Given the description of an element on the screen output the (x, y) to click on. 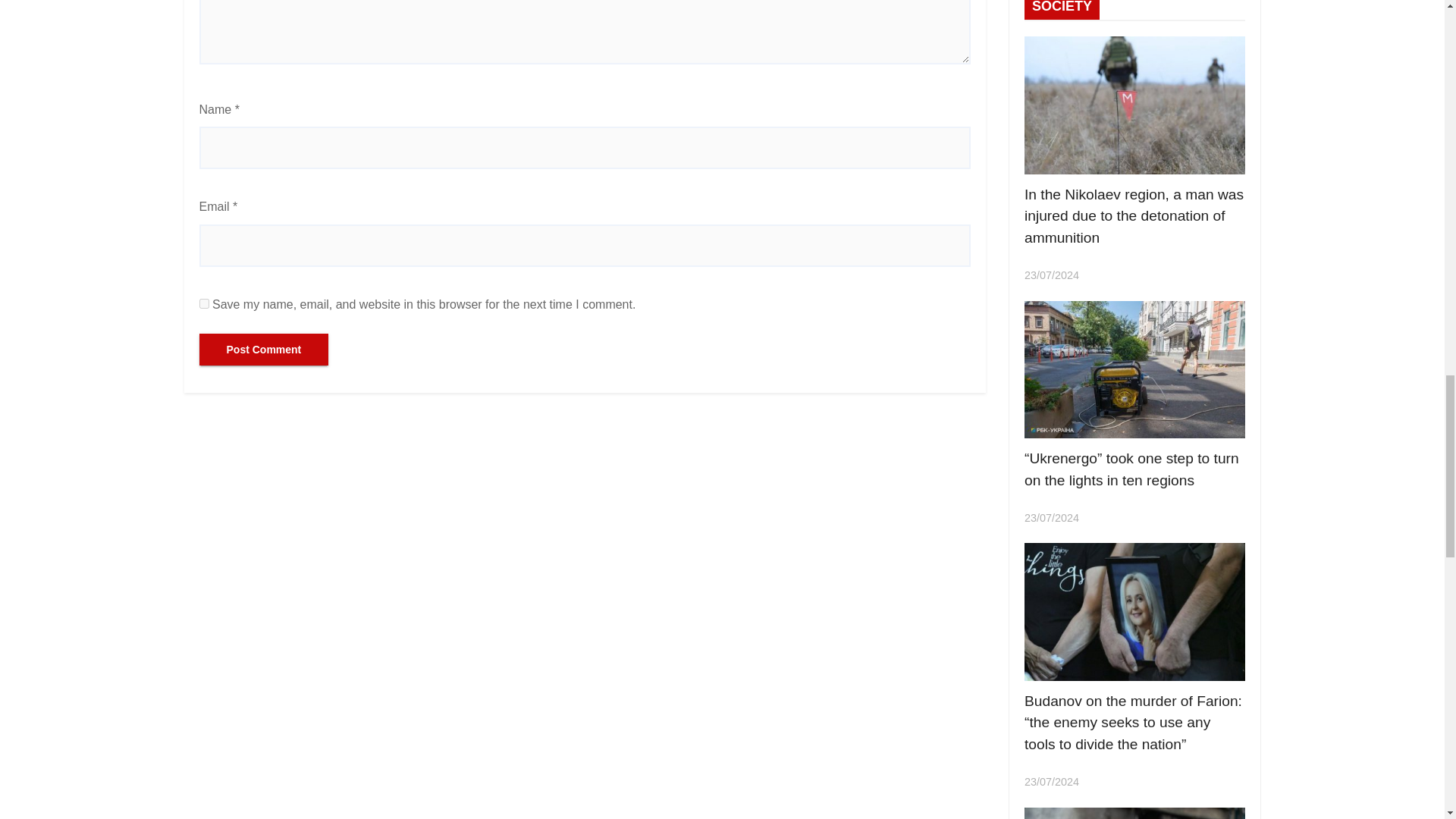
yes (203, 303)
Post Comment (263, 349)
